Given the description of an element on the screen output the (x, y) to click on. 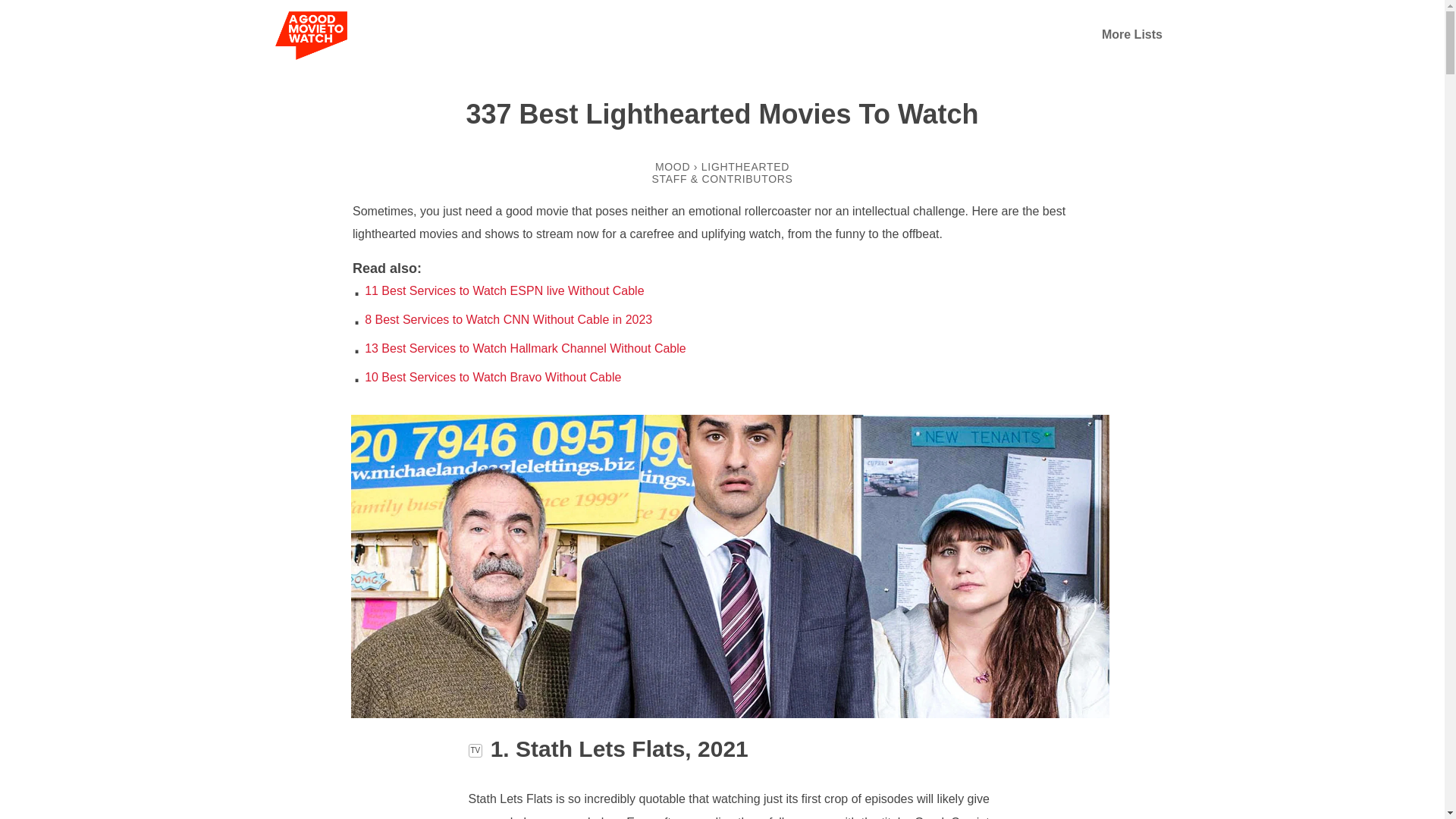
More Lists (1132, 34)
Stath Lets Flats (729, 713)
